Given the description of an element on the screen output the (x, y) to click on. 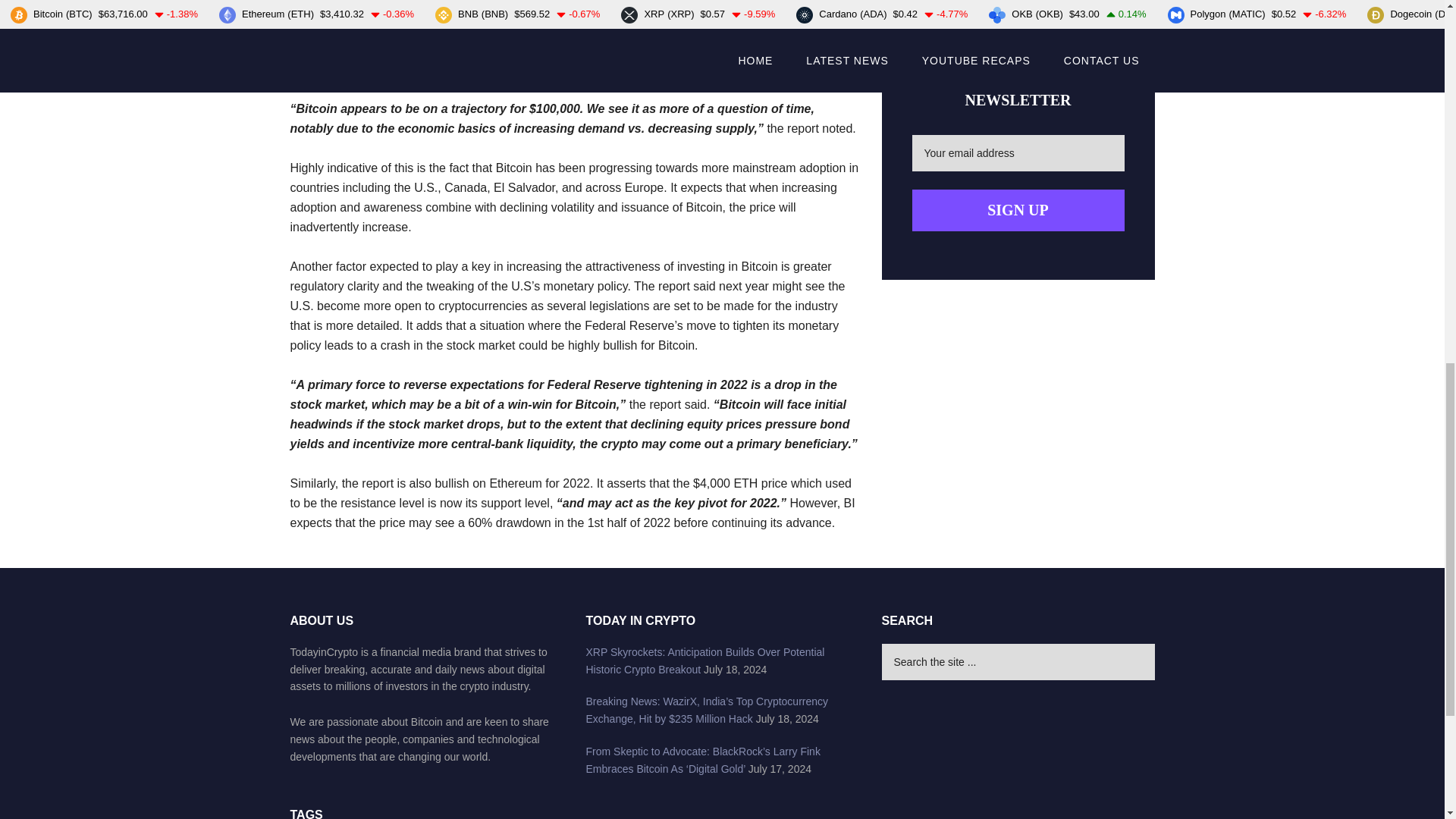
Sign up (1017, 209)
Sign up (1017, 209)
